Given the description of an element on the screen output the (x, y) to click on. 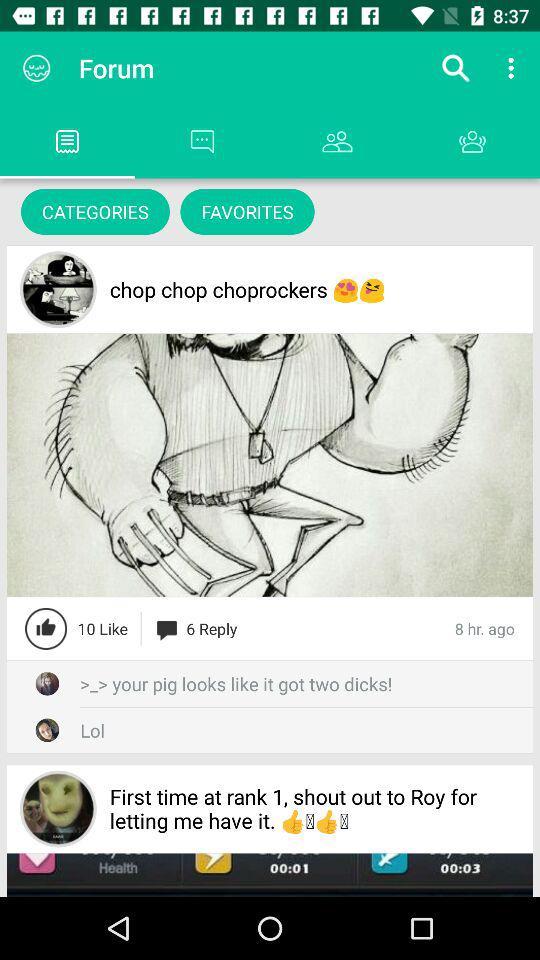
press item to the left of the forum (36, 68)
